Given the description of an element on the screen output the (x, y) to click on. 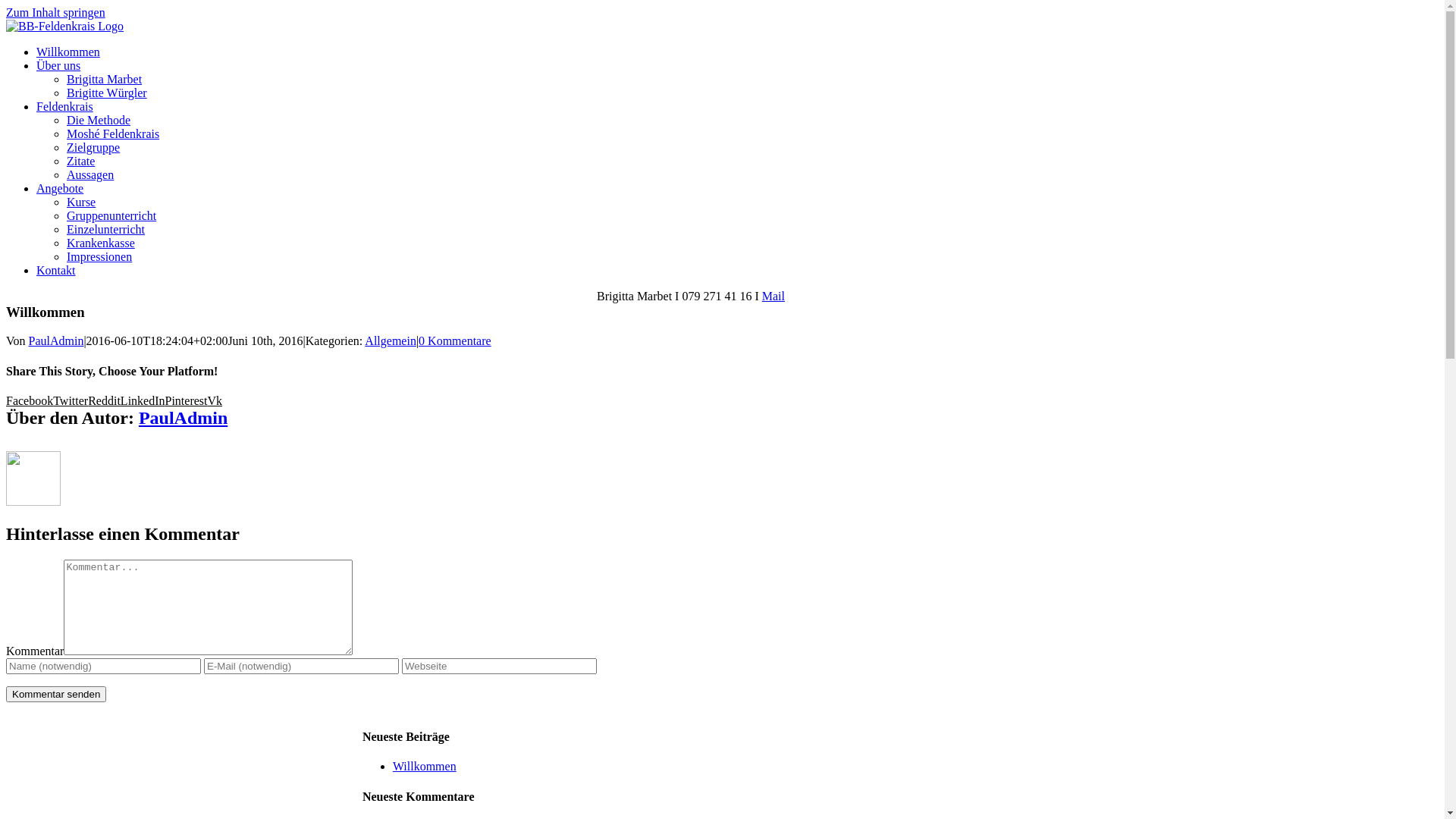
Pinterest Element type: text (186, 400)
Angebote Element type: text (59, 188)
Facebook Element type: text (29, 400)
Zum Inhalt springen Element type: text (55, 12)
Willkommen Element type: text (424, 765)
PaulAdmin Element type: text (182, 417)
Einzelunterricht Element type: text (105, 228)
Reddit Element type: text (103, 400)
Twitter Element type: text (70, 400)
Zielgruppe Element type: text (92, 147)
Kontakt Element type: text (55, 269)
Brigitta Marbet Element type: text (103, 78)
LinkedIn Element type: text (142, 400)
Mail Element type: text (773, 295)
Aussagen Element type: text (89, 174)
Impressionen Element type: text (98, 256)
Zitate Element type: text (80, 160)
Willkommen Element type: text (68, 51)
PaulAdmin Element type: text (56, 340)
Krankenkasse Element type: text (100, 242)
Vk Element type: text (214, 400)
Die Methode Element type: text (98, 119)
Gruppenunterricht Element type: text (111, 215)
Feldenkrais Element type: text (64, 106)
Kurse Element type: text (80, 201)
Allgemein Element type: text (390, 340)
0 Kommentare Element type: text (454, 340)
Kommentar senden Element type: text (56, 694)
